Given the description of an element on the screen output the (x, y) to click on. 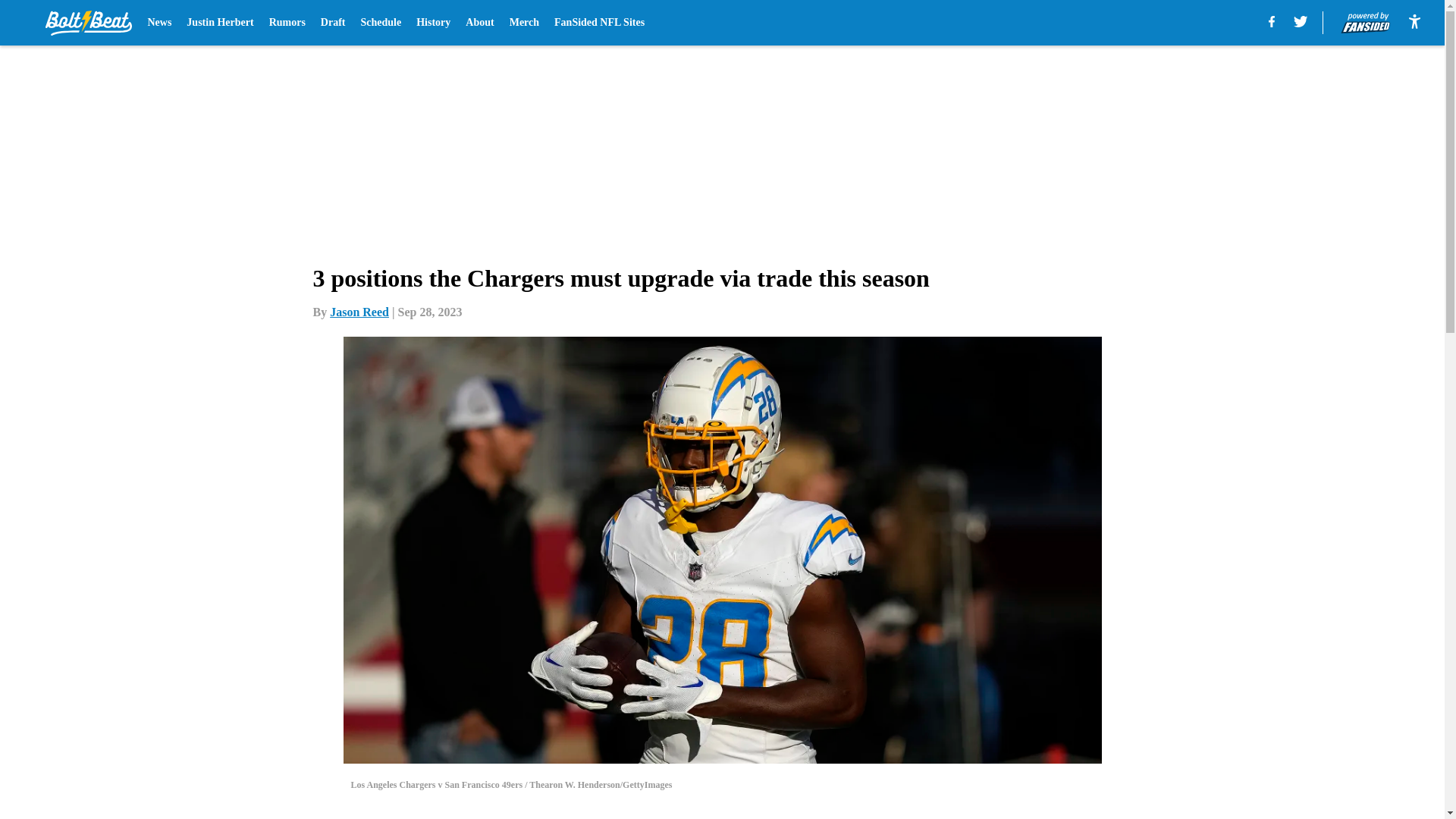
History (432, 22)
Merch (523, 22)
Justin Herbert (219, 22)
News (159, 22)
Draft (333, 22)
Schedule (381, 22)
About (479, 22)
Rumors (287, 22)
FanSided NFL Sites (599, 22)
Jason Reed (359, 311)
